Given the description of an element on the screen output the (x, y) to click on. 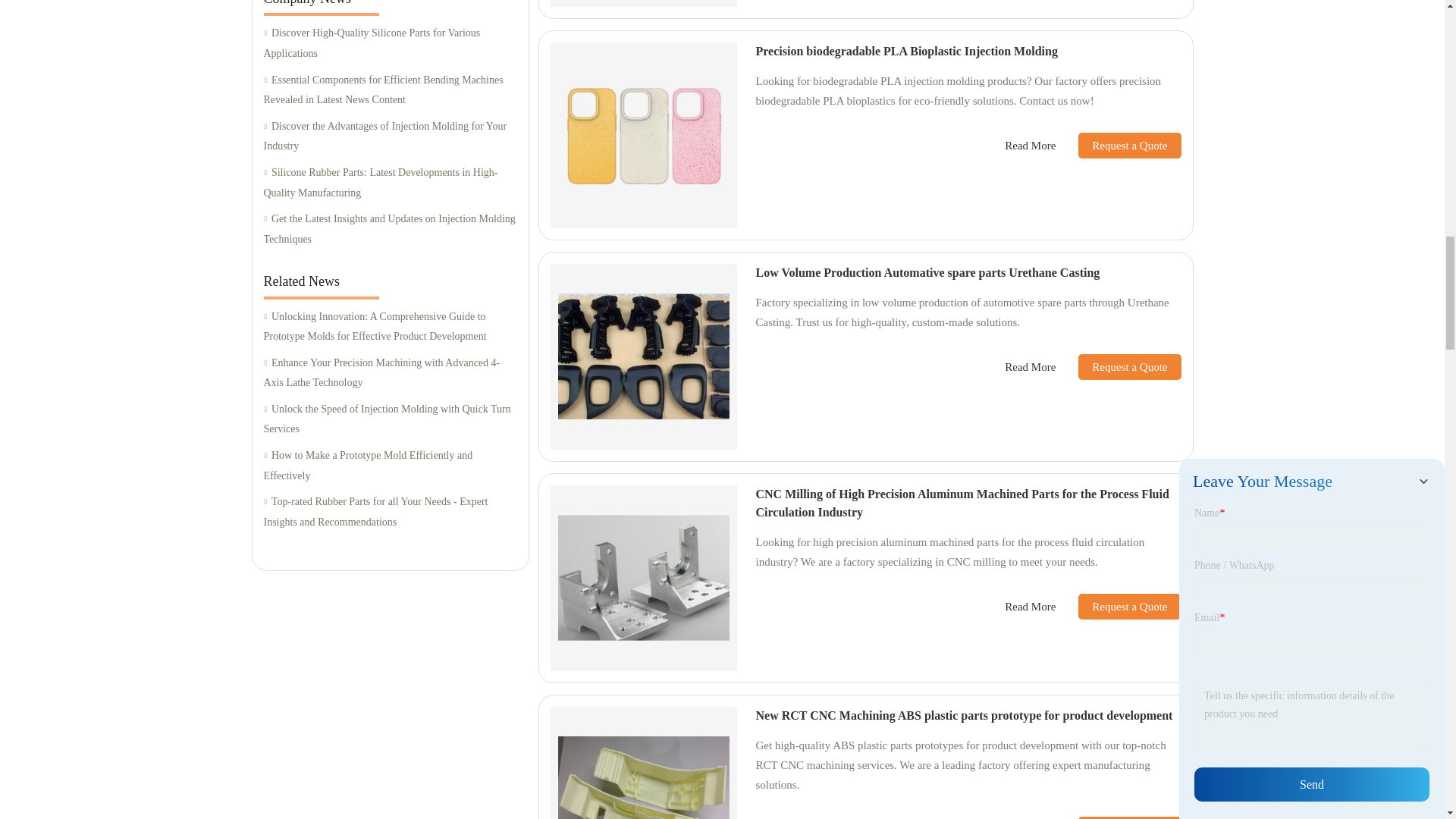
How to Make a Prototype Mold Efficiently and Effectively (389, 465)
